Given the description of an element on the screen output the (x, y) to click on. 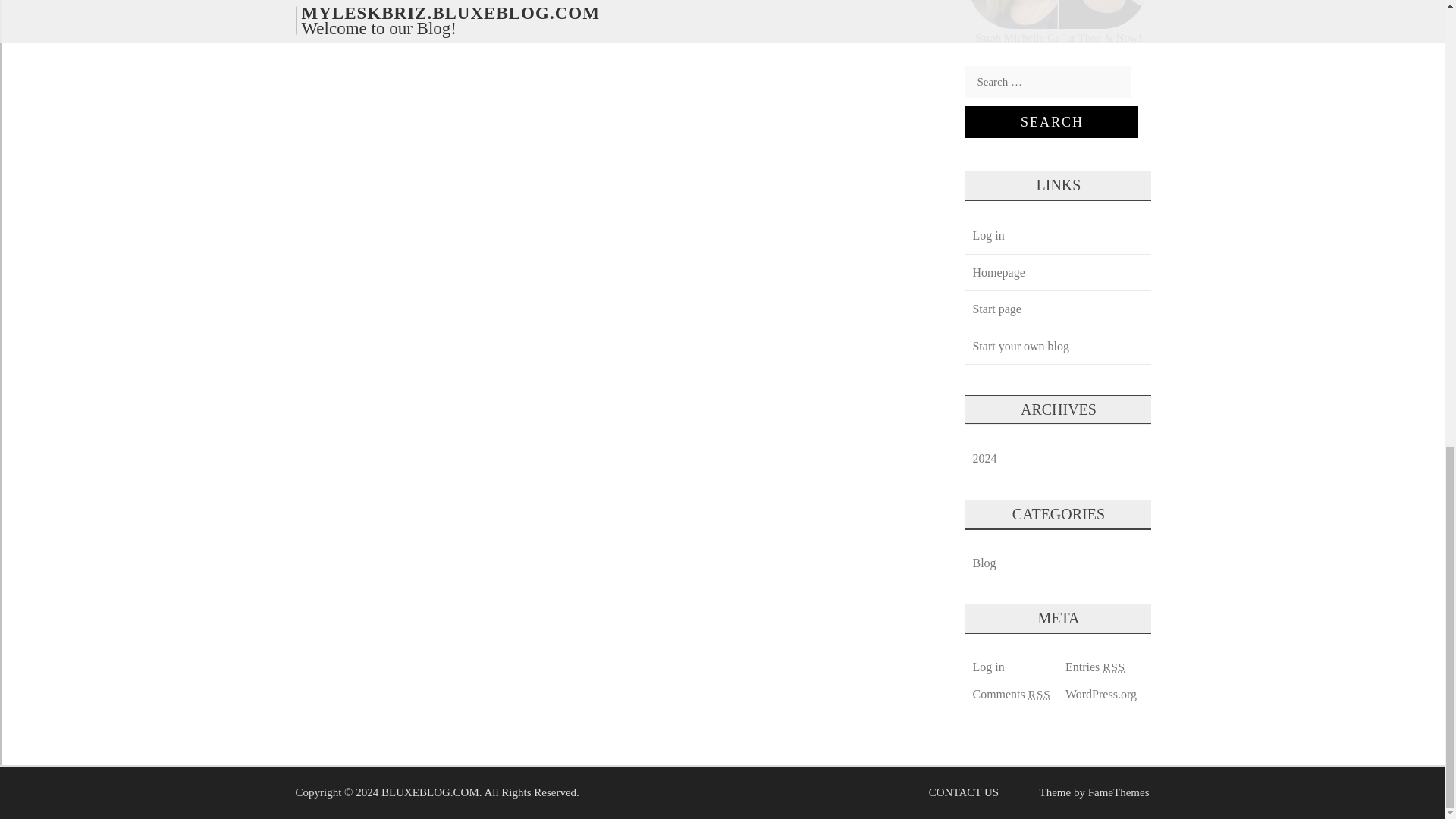
Log in (987, 666)
Search (1051, 122)
Really Simple Syndication (1039, 694)
Search (1051, 122)
CONTACT US (963, 792)
BLUXEBLOG.COM (430, 792)
Blog (984, 562)
Entries RSS (1095, 666)
Comments RSS (1011, 693)
Log in (987, 234)
Start your own blog (1020, 345)
Homepage (997, 272)
Really Simple Syndication (1113, 666)
2024 (984, 458)
